Given the description of an element on the screen output the (x, y) to click on. 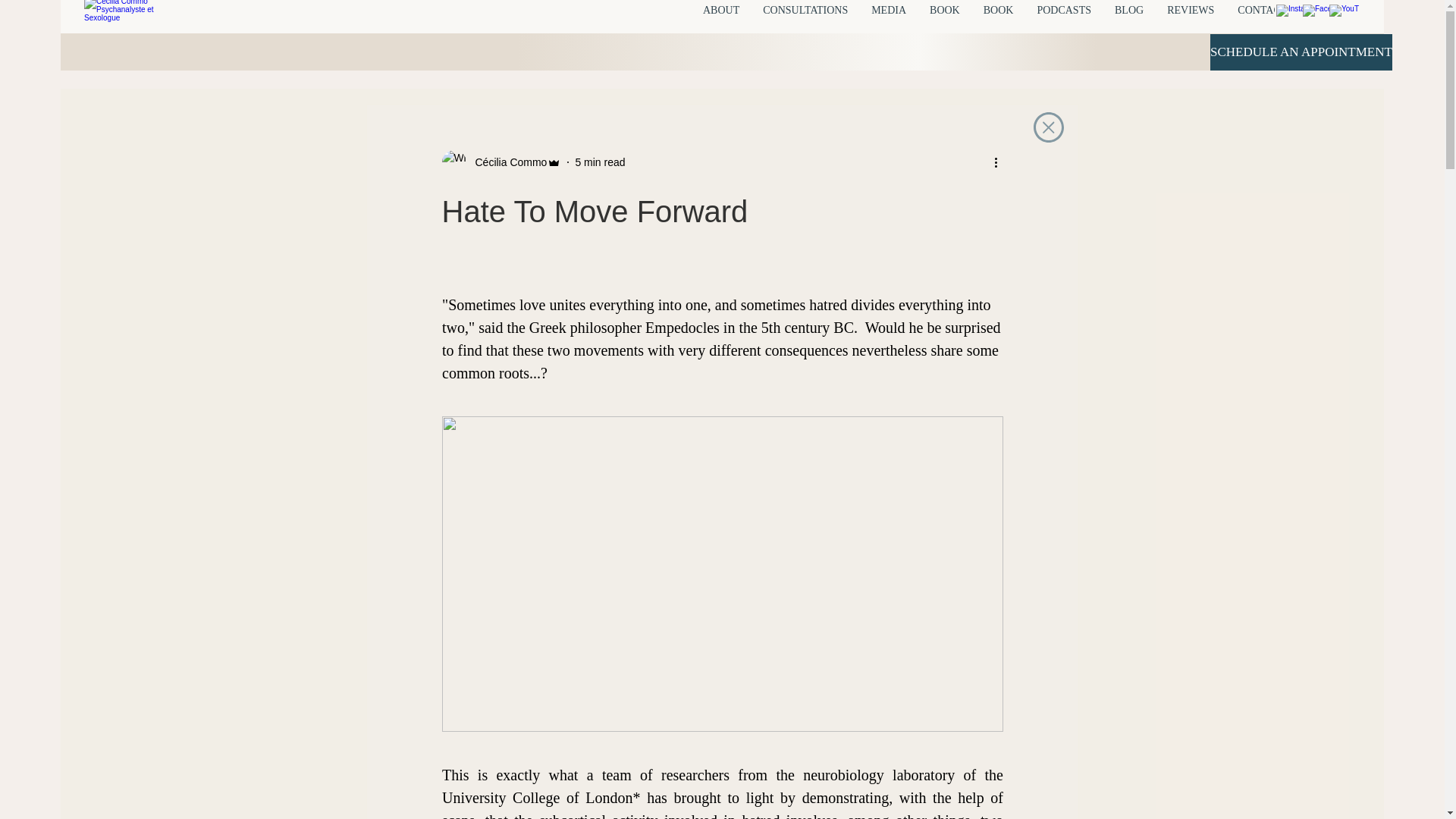
CONSULTATIONS (805, 18)
ABOUT (721, 18)
BOOK (944, 18)
REVIEWS (1189, 18)
BOOK (998, 18)
BLOG (1128, 18)
SCHEDULE AN APPOINTMENT (1300, 52)
CONTACT (1261, 18)
5 min read (599, 162)
PODCASTS (1063, 18)
